Given the description of an element on the screen output the (x, y) to click on. 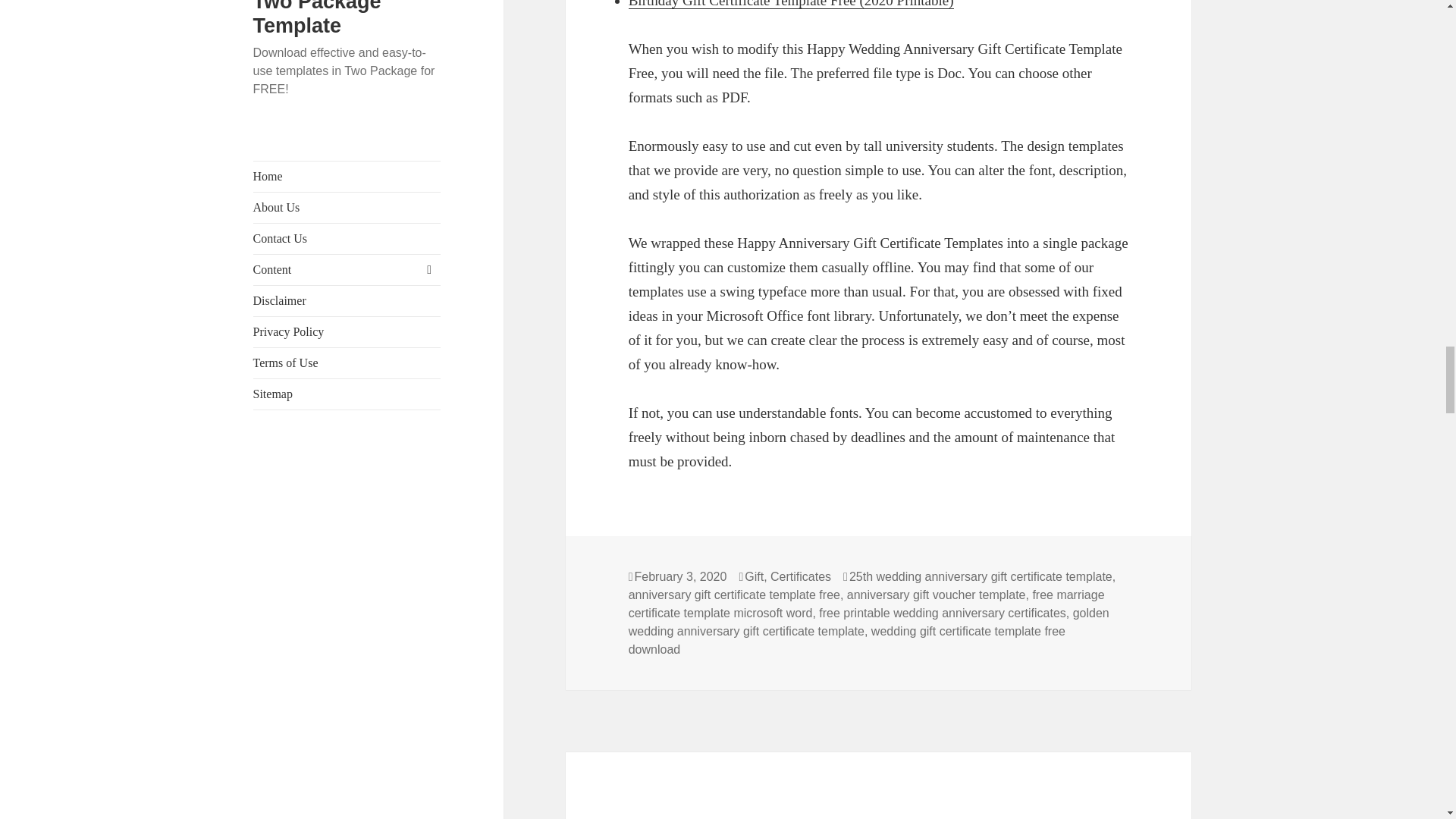
anniversary gift certificate template free (734, 594)
February 3, 2020 (680, 576)
25th wedding anniversary gift certificate template (980, 576)
golden wedding anniversary gift certificate template (868, 622)
free printable wedding anniversary certificates (941, 612)
free marriage certificate template microsoft word (866, 603)
wedding gift certificate template free download (846, 640)
anniversary gift voucher template (936, 594)
Gift (753, 576)
Certificates (800, 576)
